Given the description of an element on the screen output the (x, y) to click on. 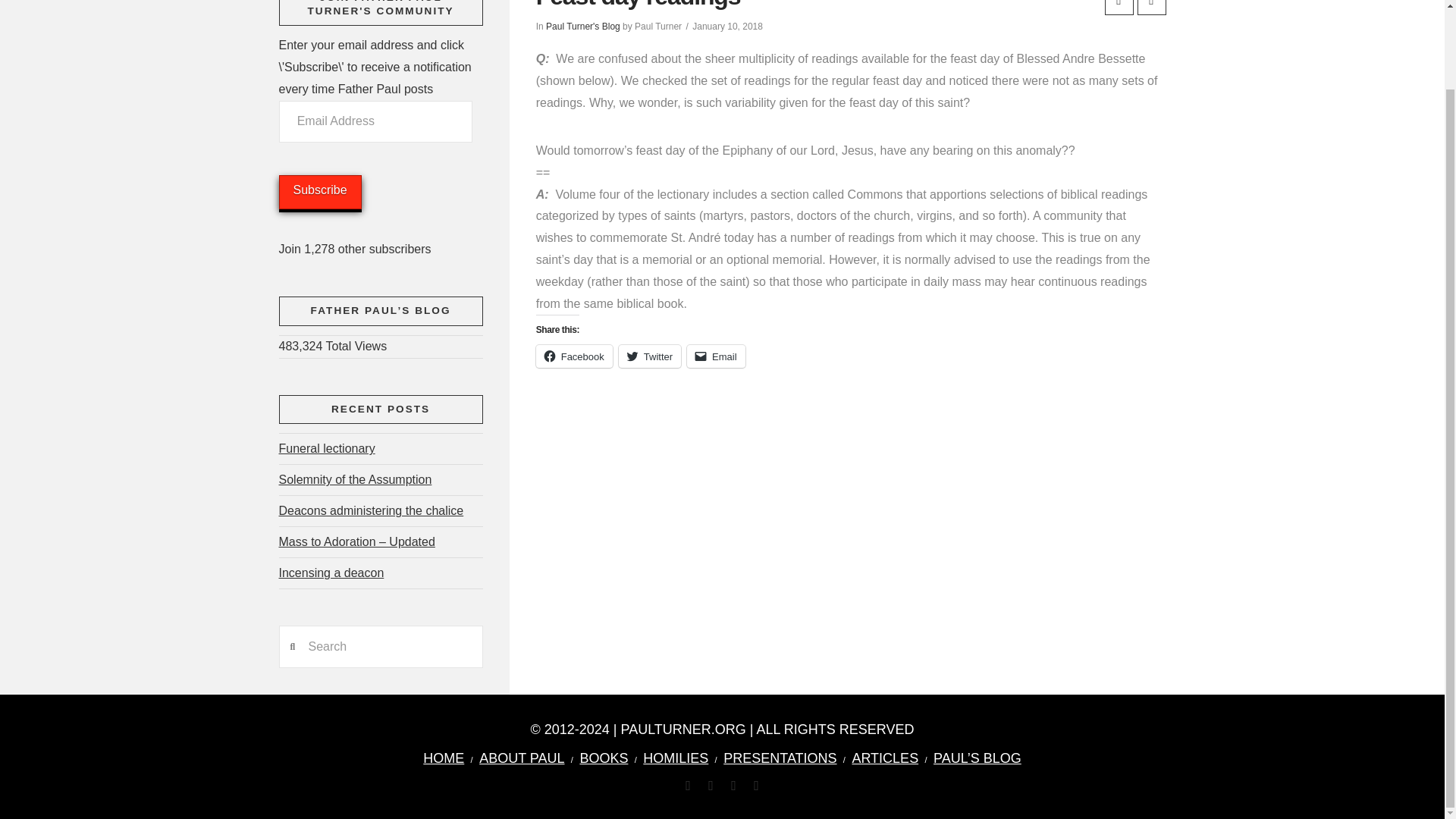
Paul Turner Books (603, 758)
Click to email a link to a friend (716, 355)
Click to share on Facebook (573, 355)
Click to share on Twitter (649, 355)
